Given the description of an element on the screen output the (x, y) to click on. 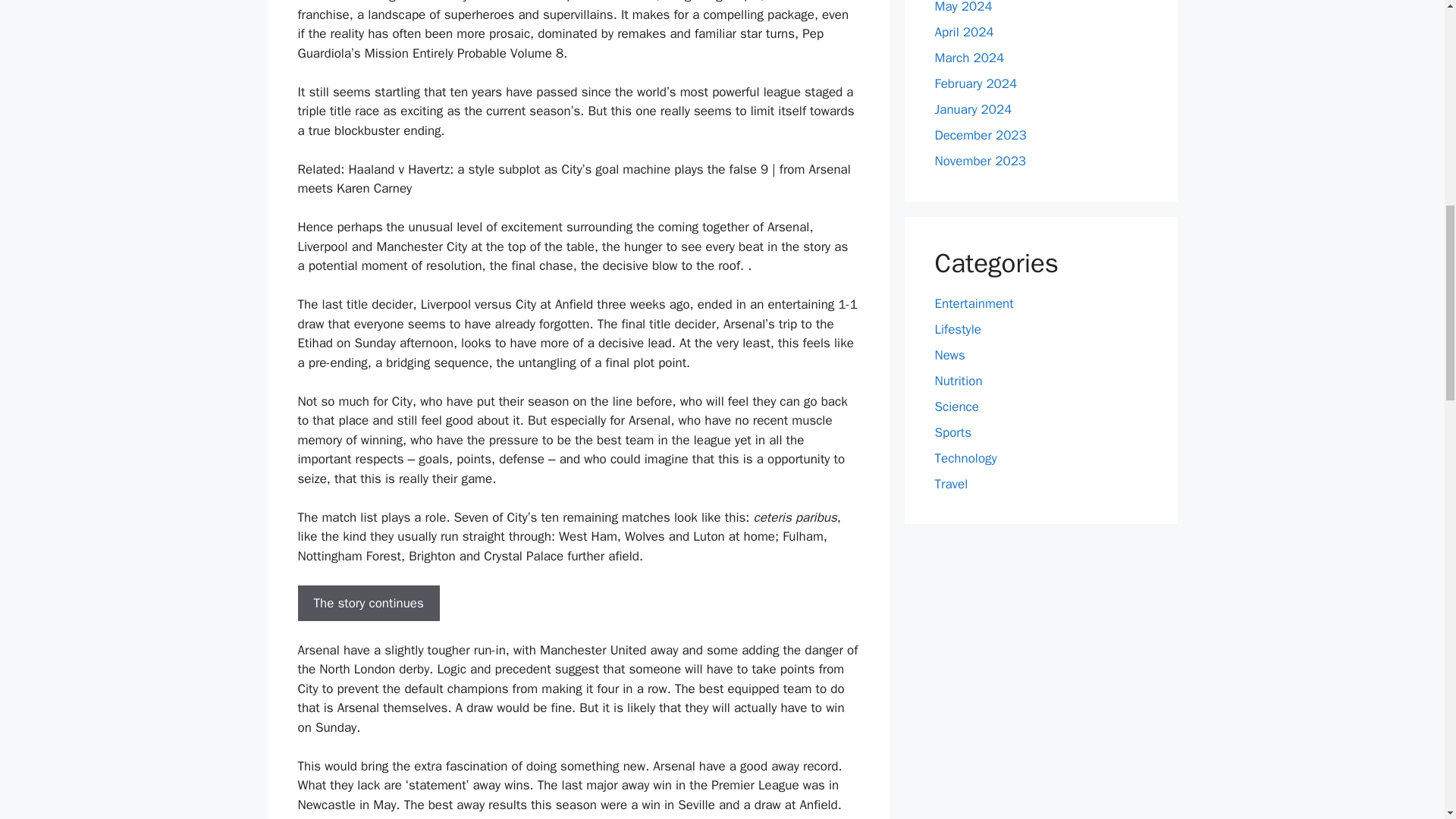
The story continues (368, 603)
